Given the description of an element on the screen output the (x, y) to click on. 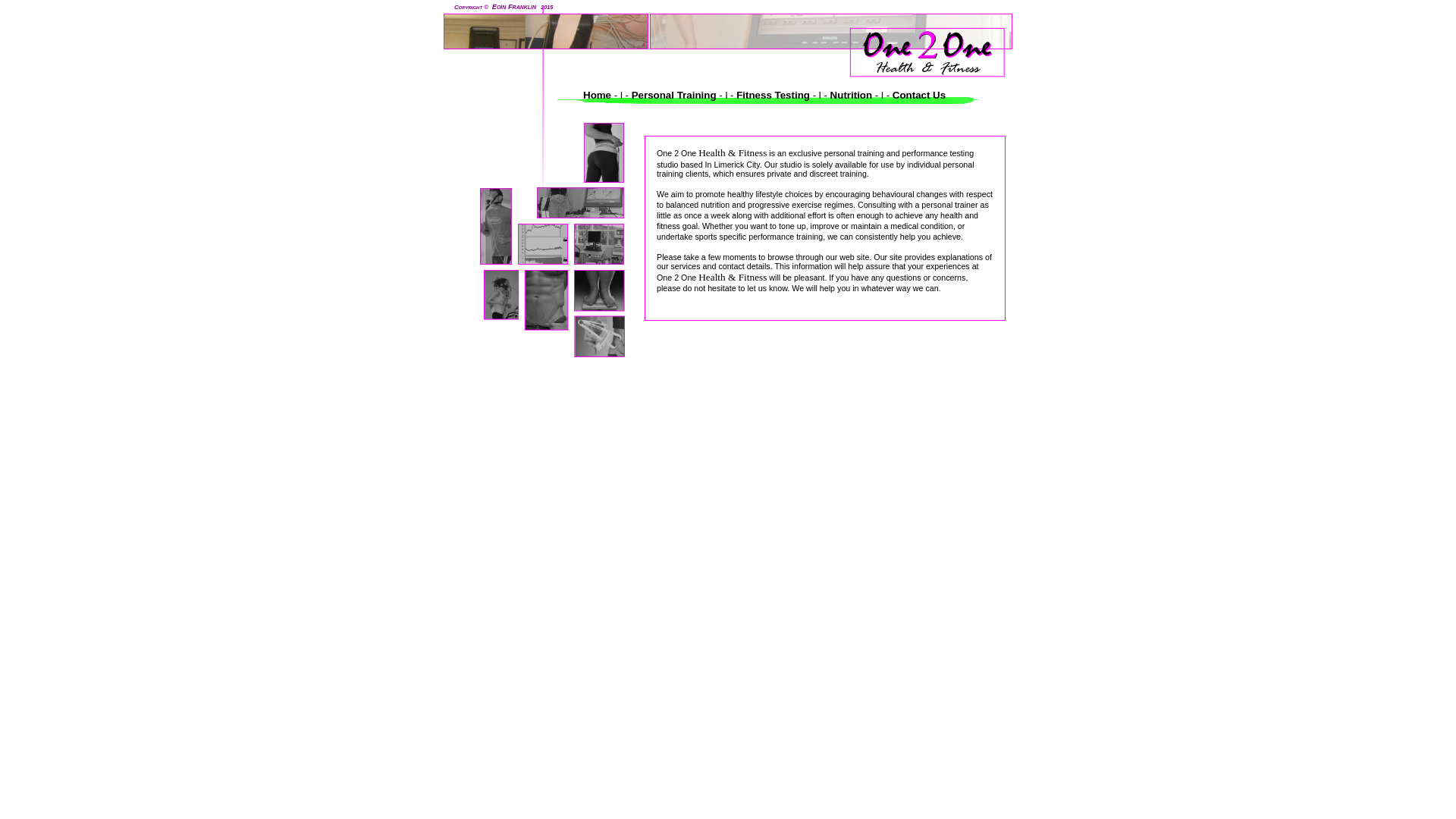
Fitness Testing Element type: text (772, 94)
Nutrition Element type: text (851, 94)
Home Element type: text (598, 94)
Personal Training Element type: text (673, 94)
Contact Us Element type: text (917, 94)
